Given the description of an element on the screen output the (x, y) to click on. 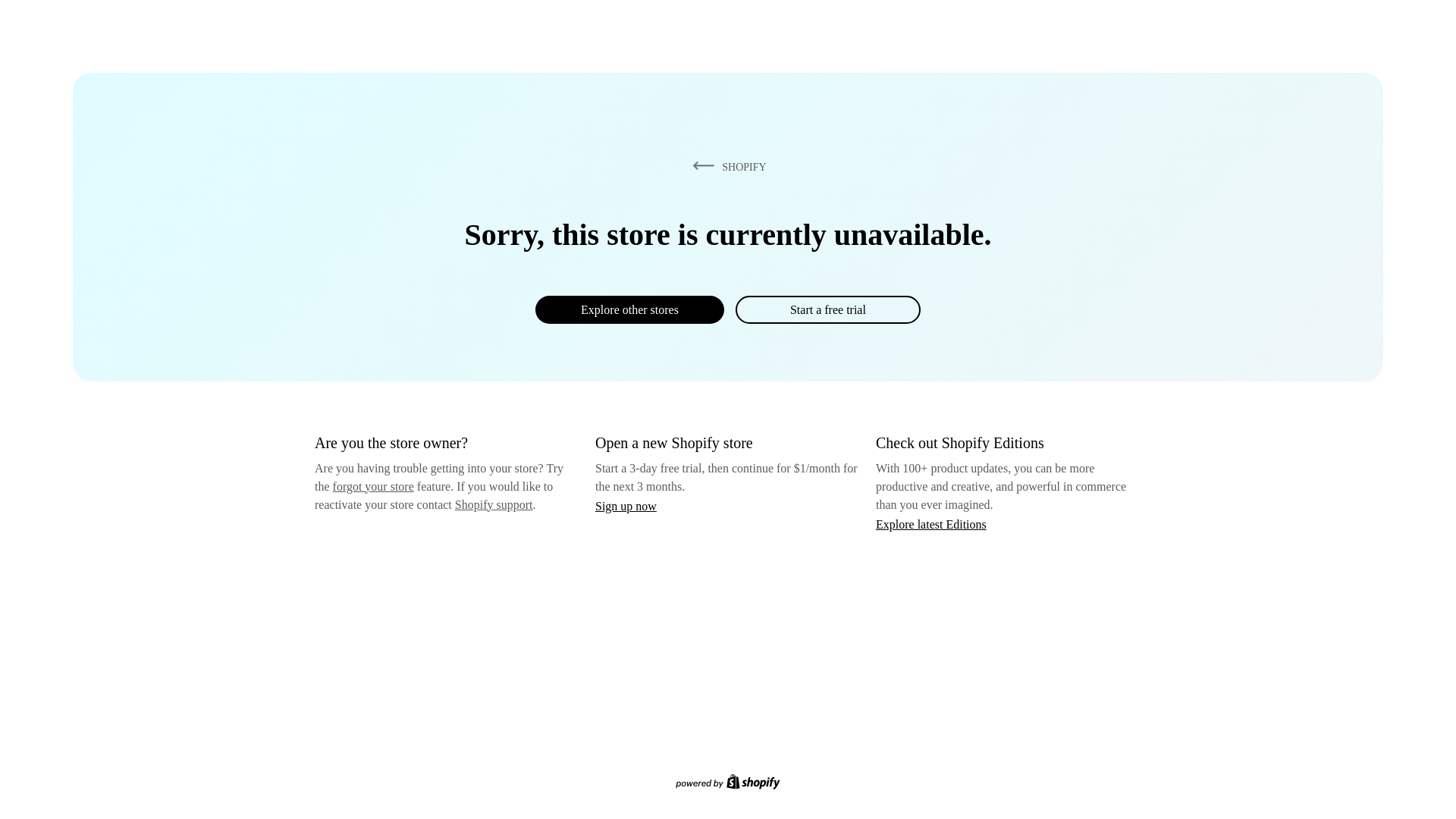
Shopify support (493, 504)
SHOPIFY (726, 166)
forgot your store (373, 486)
Explore other stores (629, 309)
Explore latest Editions (931, 523)
Sign up now (625, 505)
Start a free trial (827, 309)
